Given the description of an element on the screen output the (x, y) to click on. 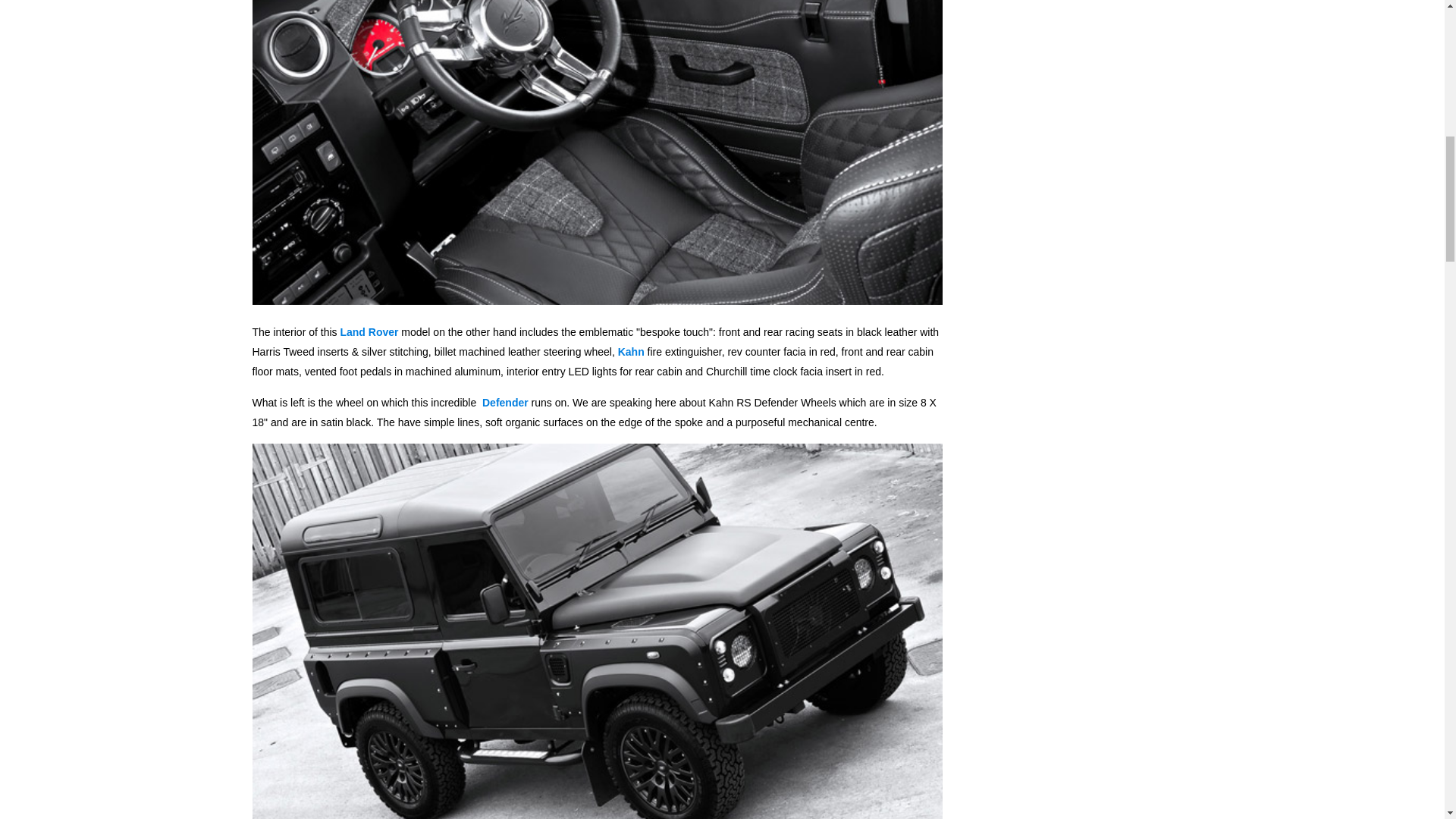
Kahn (631, 351)
Defender (504, 402)
Land Rover (368, 331)
